Given the description of an element on the screen output the (x, y) to click on. 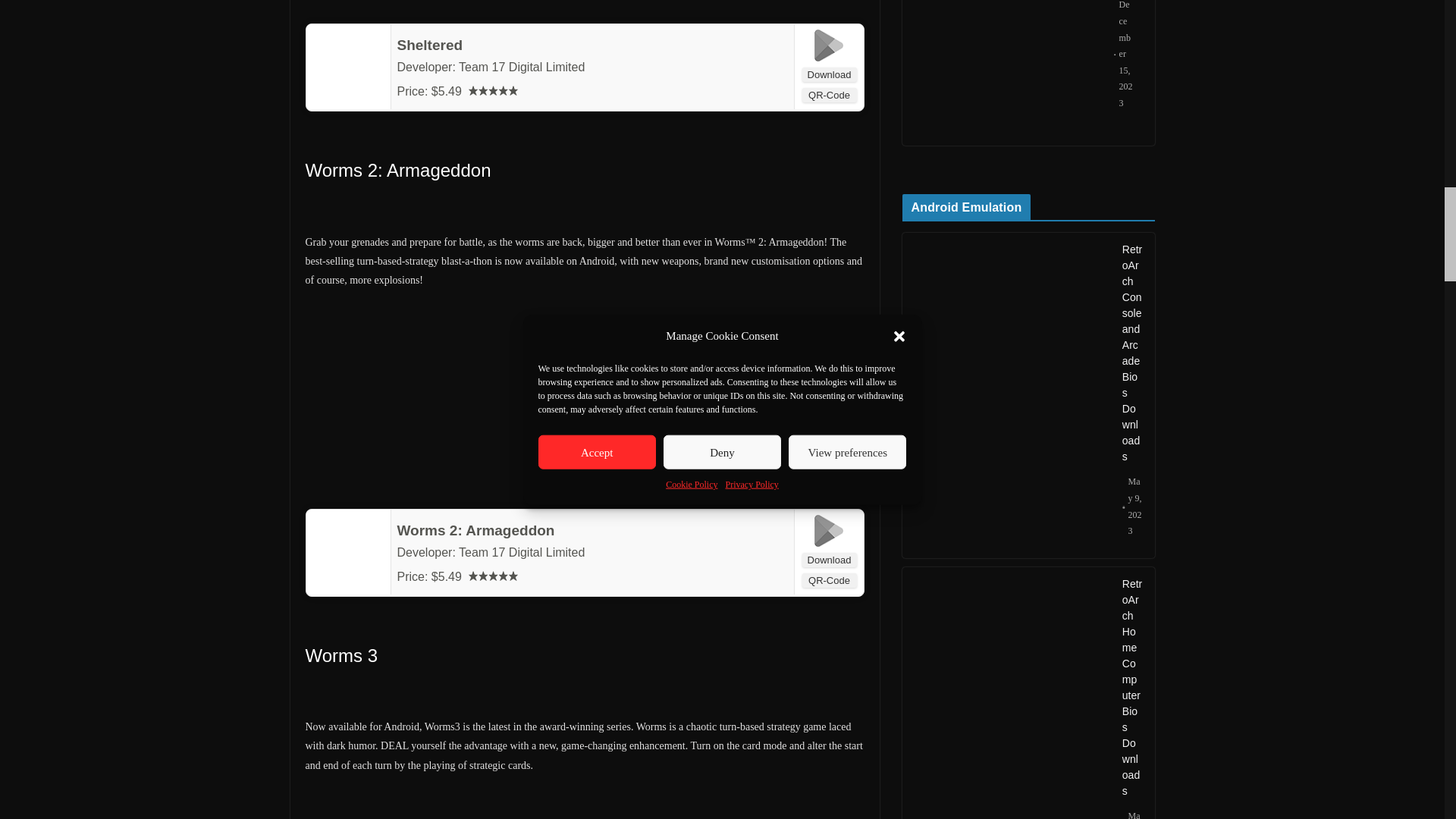
5 of 5 stars (493, 90)
5 of 5 stars (493, 575)
Worms 2: Armageddon (475, 530)
Sheltered (430, 44)
